Given the description of an element on the screen output the (x, y) to click on. 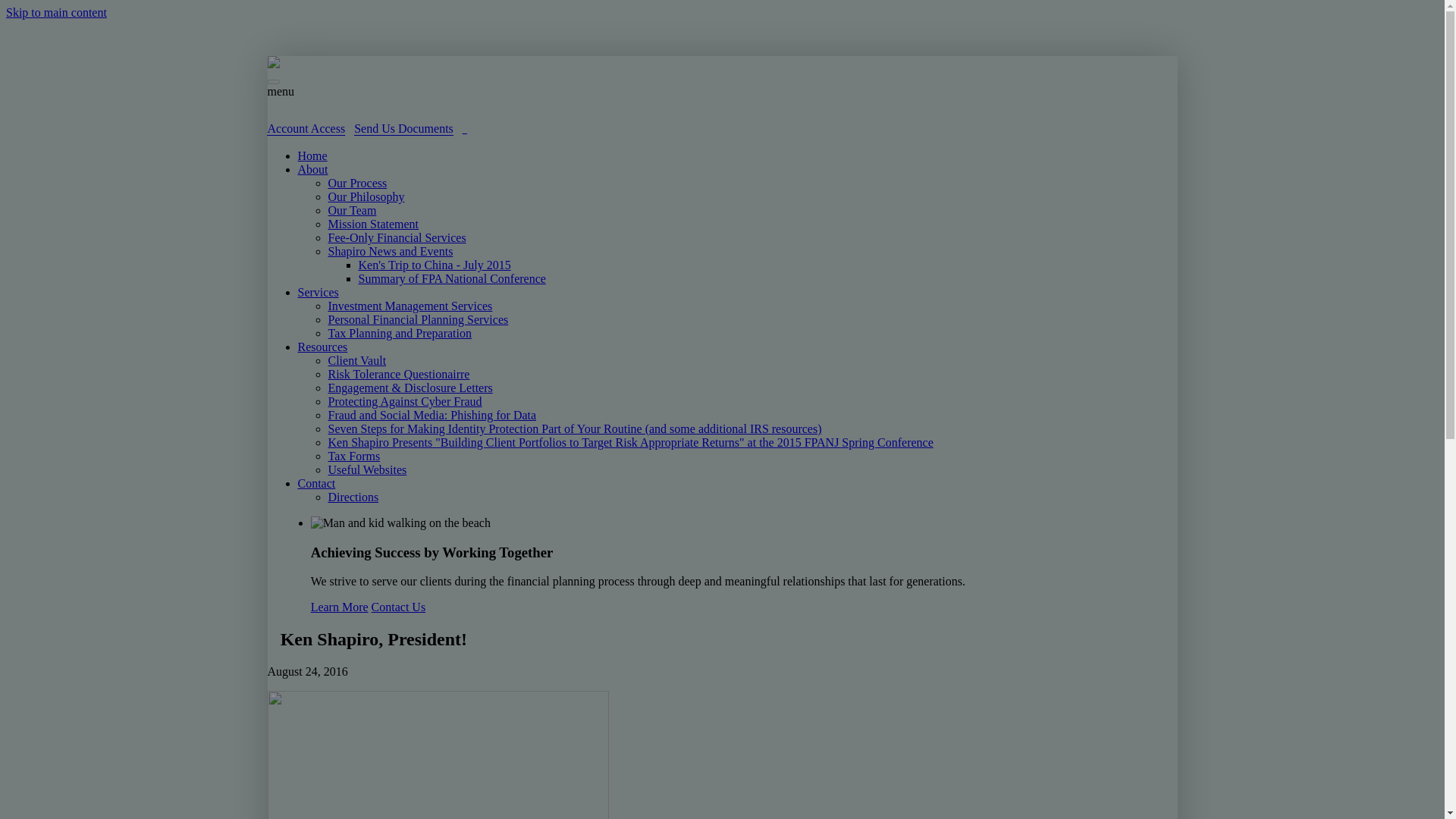
Mission Statement (373, 223)
Our Philosophy (365, 196)
Fraud and Social Media: Phishing for Data (431, 414)
Contact (315, 482)
Risk Tolerance Questionairre (397, 373)
Tax Forms (353, 455)
About (312, 169)
Services (317, 291)
Protecting Against Cyber Fraud (404, 400)
Tax Planning and Preparation (399, 332)
Home (311, 155)
Personal Financial Planning Services (417, 318)
Client Vault (356, 359)
Shapiro News and Events (389, 250)
